Given the description of an element on the screen output the (x, y) to click on. 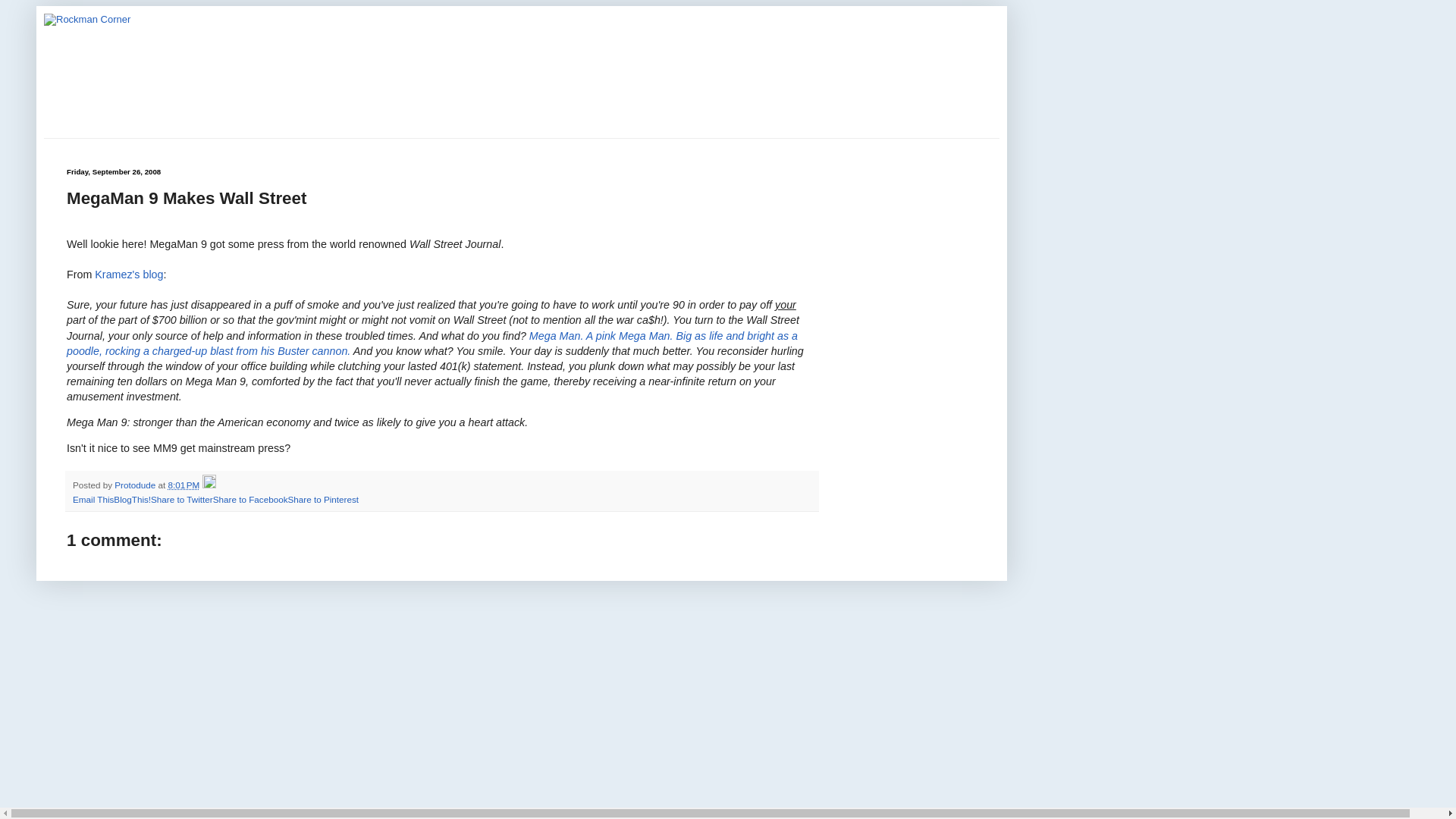
Share to Pinterest (322, 499)
Share to Facebook (250, 499)
Share to Facebook (250, 499)
Email This (92, 499)
author profile (136, 484)
Kramez's blog (128, 274)
Email This (92, 499)
Edit Post (208, 484)
BlogThis! (132, 499)
